Given the description of an element on the screen output the (x, y) to click on. 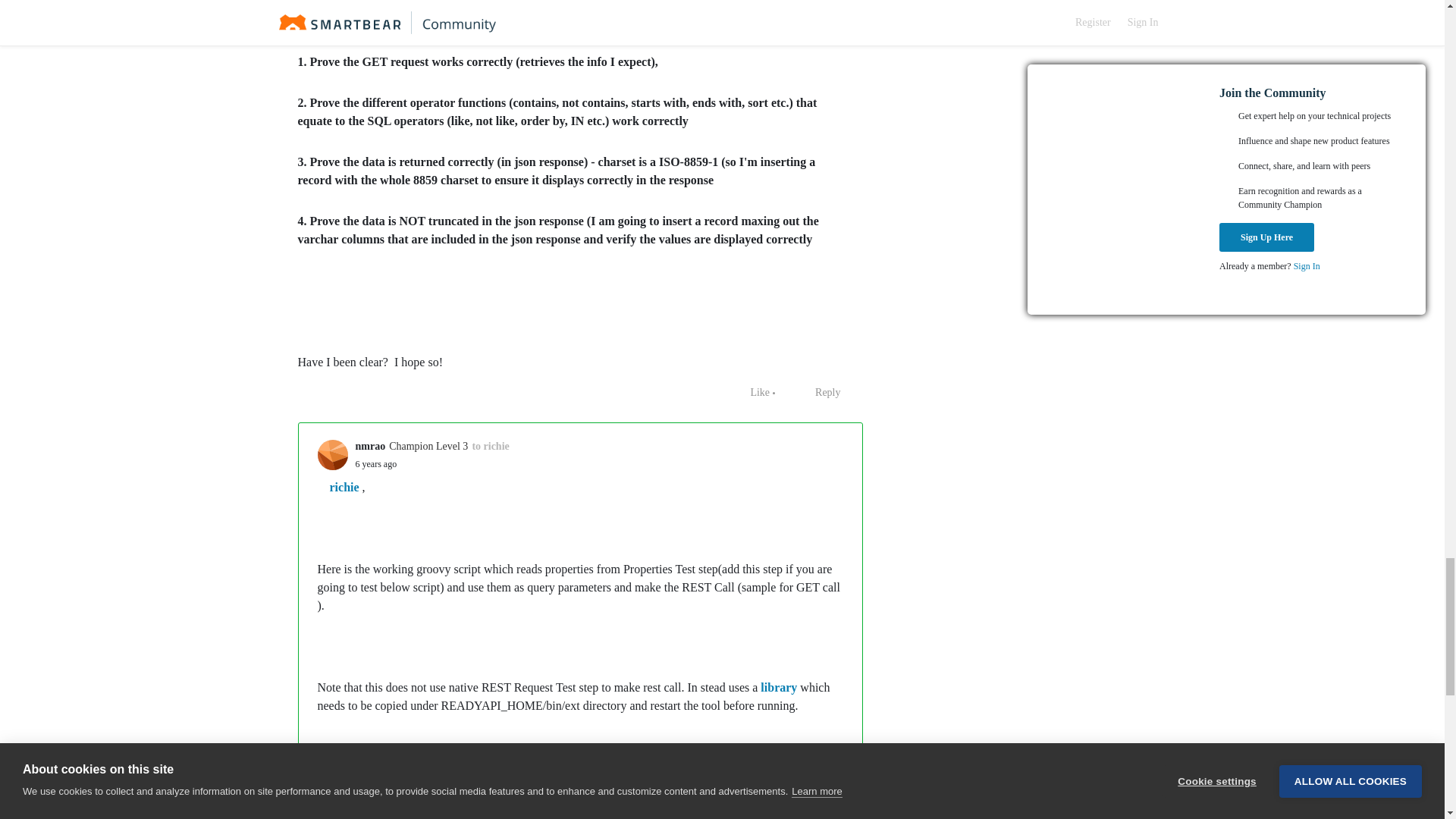
January 24, 2019 at 10:44 AM (375, 463)
